Given the description of an element on the screen output the (x, y) to click on. 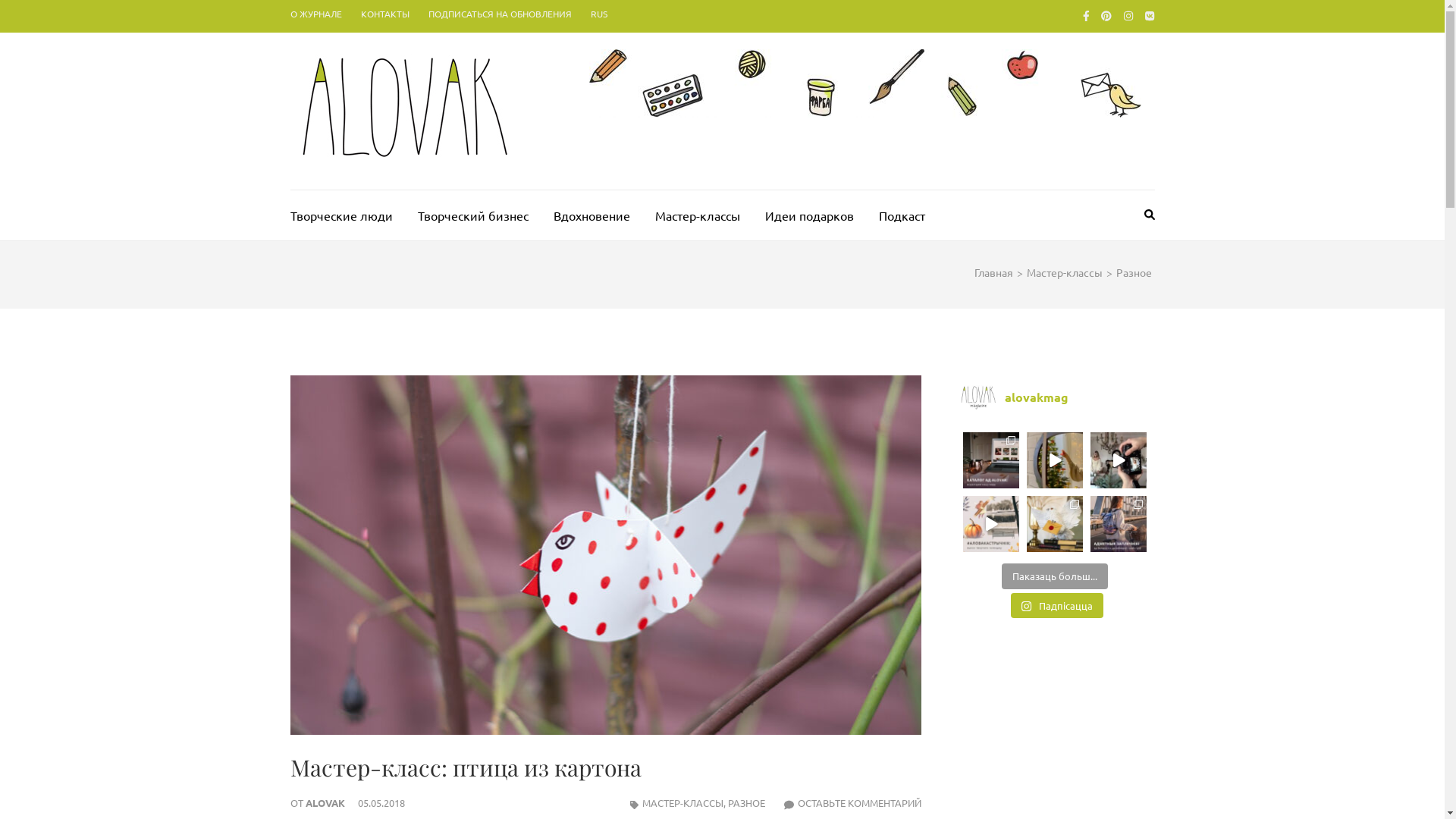
ALOVAK MAGAZINE Element type: text (660, 126)
Facebook Element type: hover (1085, 14)
VK Element type: hover (1149, 14)
RUS Element type: text (597, 13)
ALOVAK Element type: text (324, 802)
alovakmag Element type: text (1055, 398)
Instagram Element type: hover (1127, 14)
05.05.2018 Element type: text (380, 802)
Pinterest Element type: hover (1106, 14)
